Given the description of an element on the screen output the (x, y) to click on. 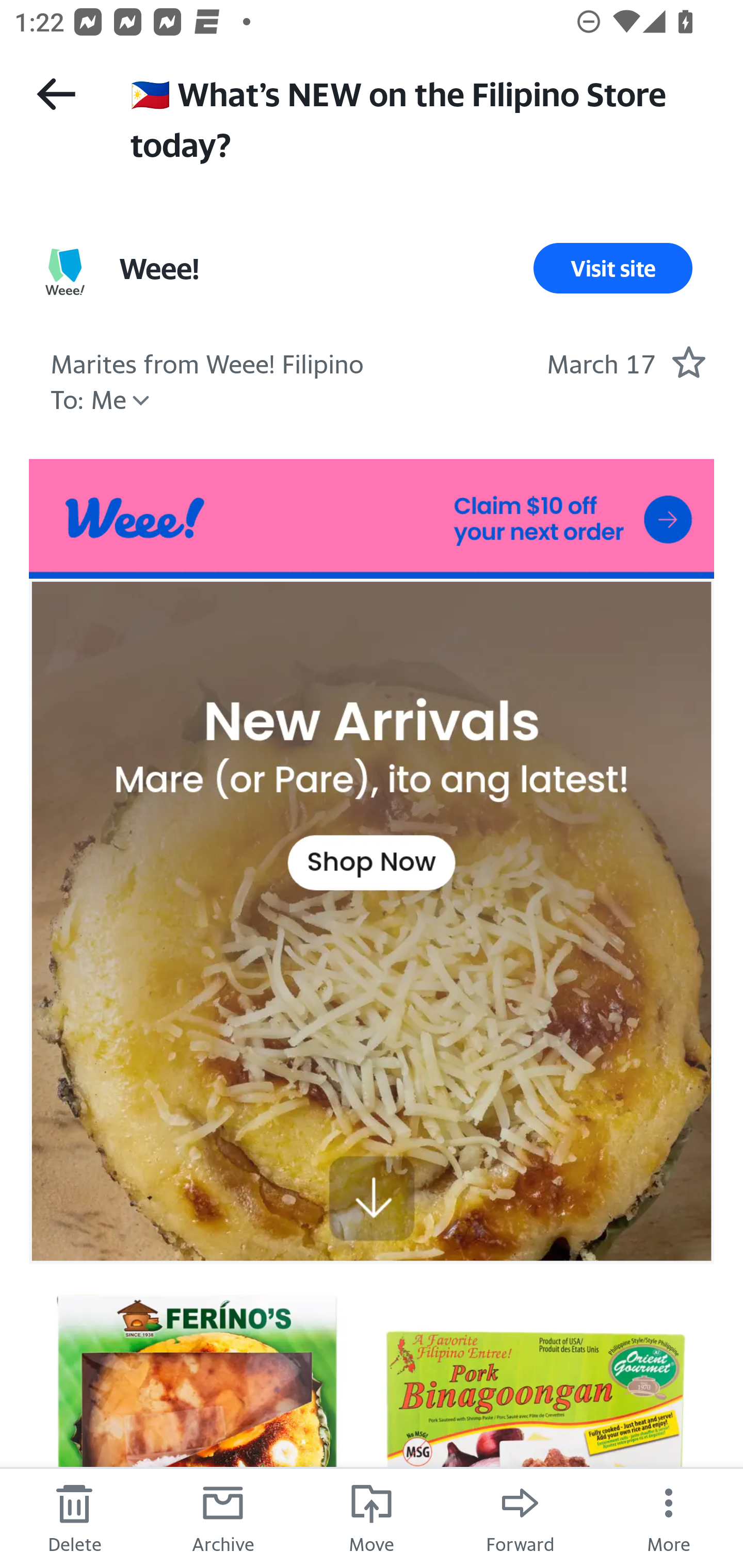
Back (55, 93)
🇵🇭 What’s NEW on the Filipino Store today? (418, 116)
View all messages from sender (64, 272)
Visit site Visit Site Link (612, 268)
Weee! Sender Weee! (158, 267)
Mark as starred. (688, 361)
click?upn=u001 (371, 518)
Delete (74, 1517)
Archive (222, 1517)
Move (371, 1517)
Forward (519, 1517)
More (668, 1517)
